Given the description of an element on the screen output the (x, y) to click on. 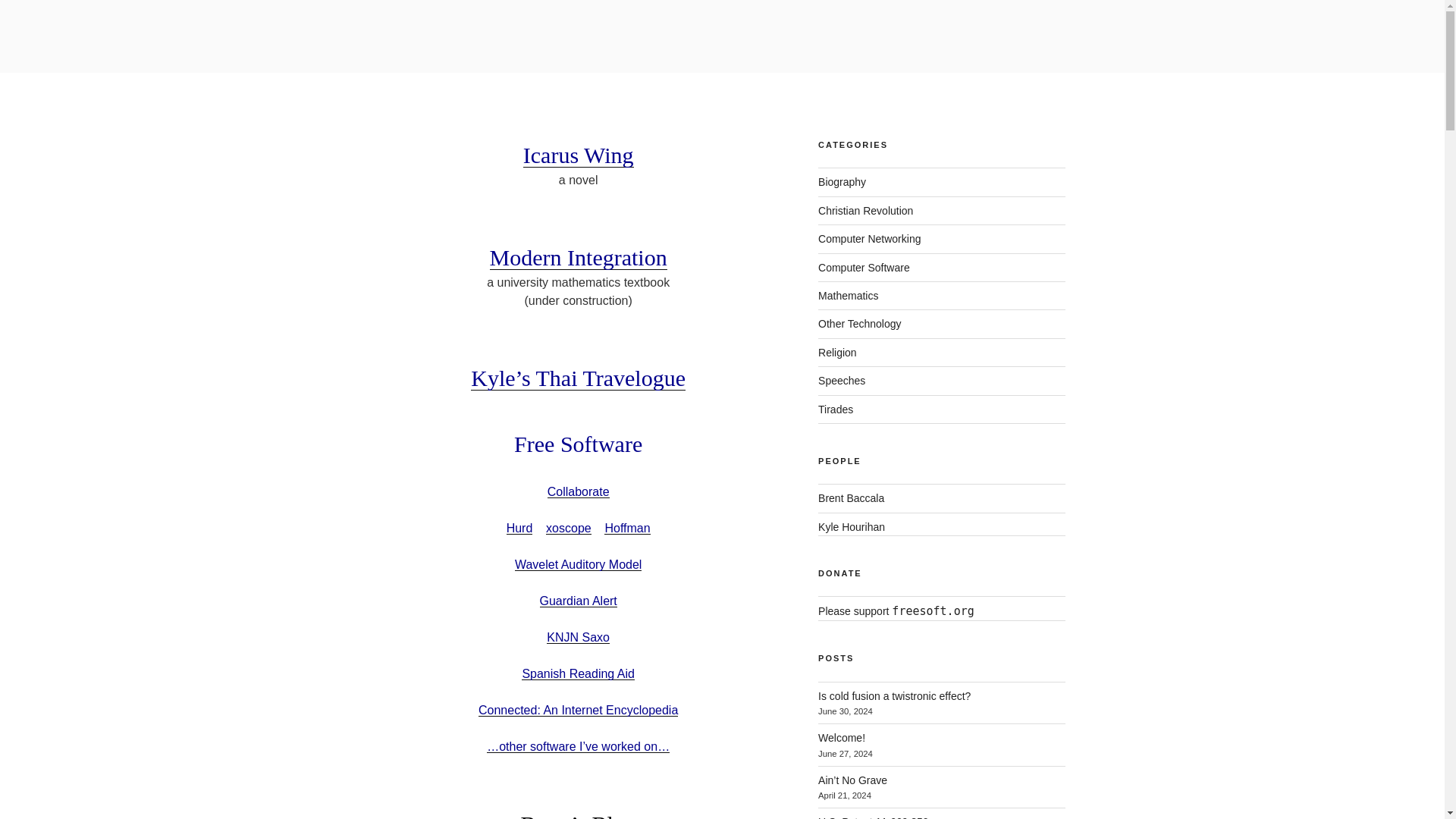
Spanish Reading Aid (577, 673)
Hoffman (626, 527)
FREESOFT.ORG (497, 52)
xoscope (568, 527)
KNJN Saxo (578, 636)
Modern Integration (577, 257)
Guardian Alert (578, 600)
Wavelet Auditory Model (578, 563)
Hurd (519, 527)
Collaborate (578, 491)
